Given the description of an element on the screen output the (x, y) to click on. 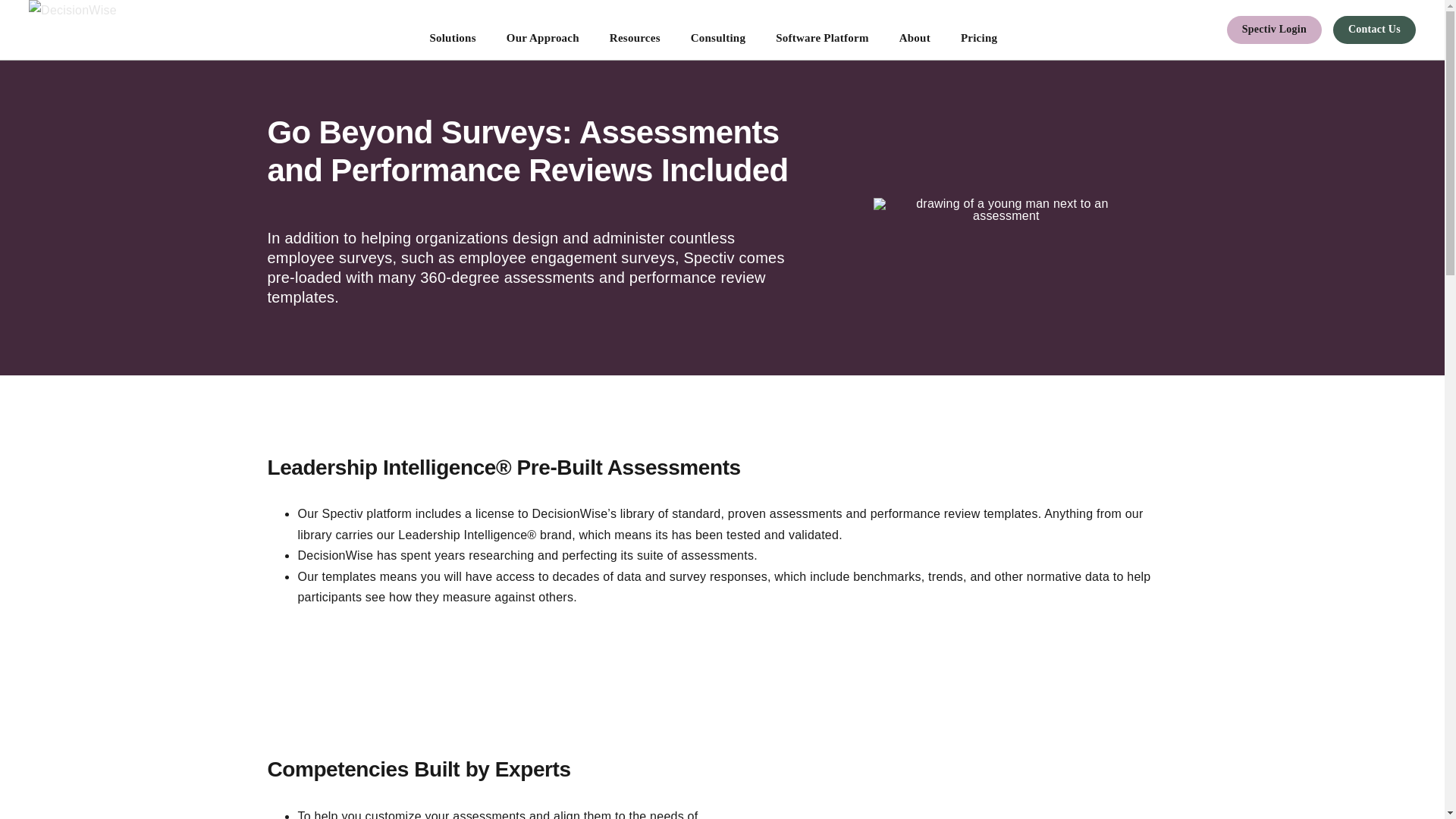
Competencies (958, 801)
Solutions (451, 30)
Our Approach (543, 30)
drawing of a young man next to an assessment (1005, 209)
Consulting (717, 30)
Resources (634, 30)
Software Platform (821, 30)
